Given the description of an element on the screen output the (x, y) to click on. 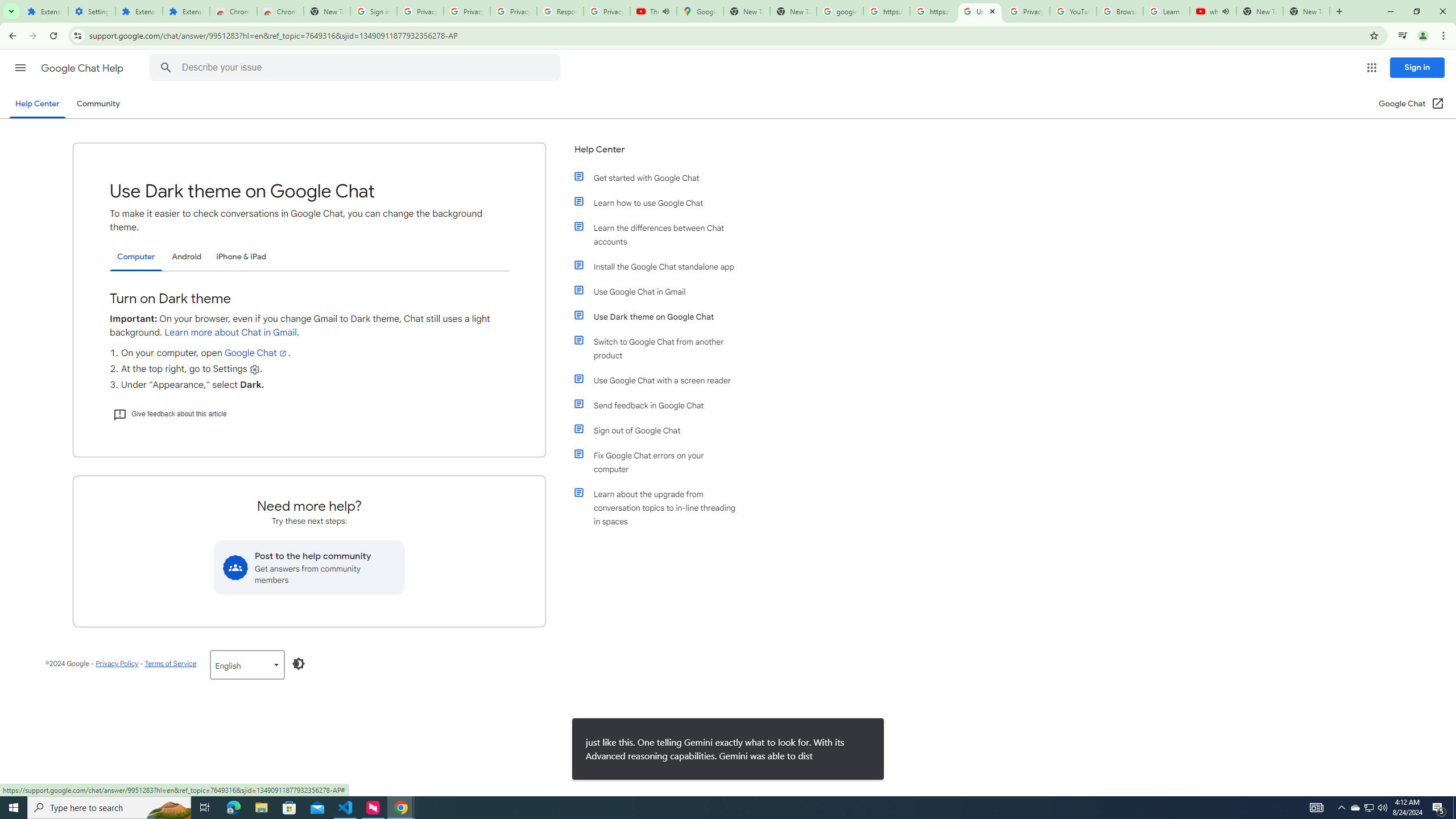
Switch to Google Chat from another product (661, 348)
Learn how to use Google Chat (661, 202)
https://scholar.google.com/ (933, 11)
Install the Google Chat standalone app (661, 266)
